Given the description of an element on the screen output the (x, y) to click on. 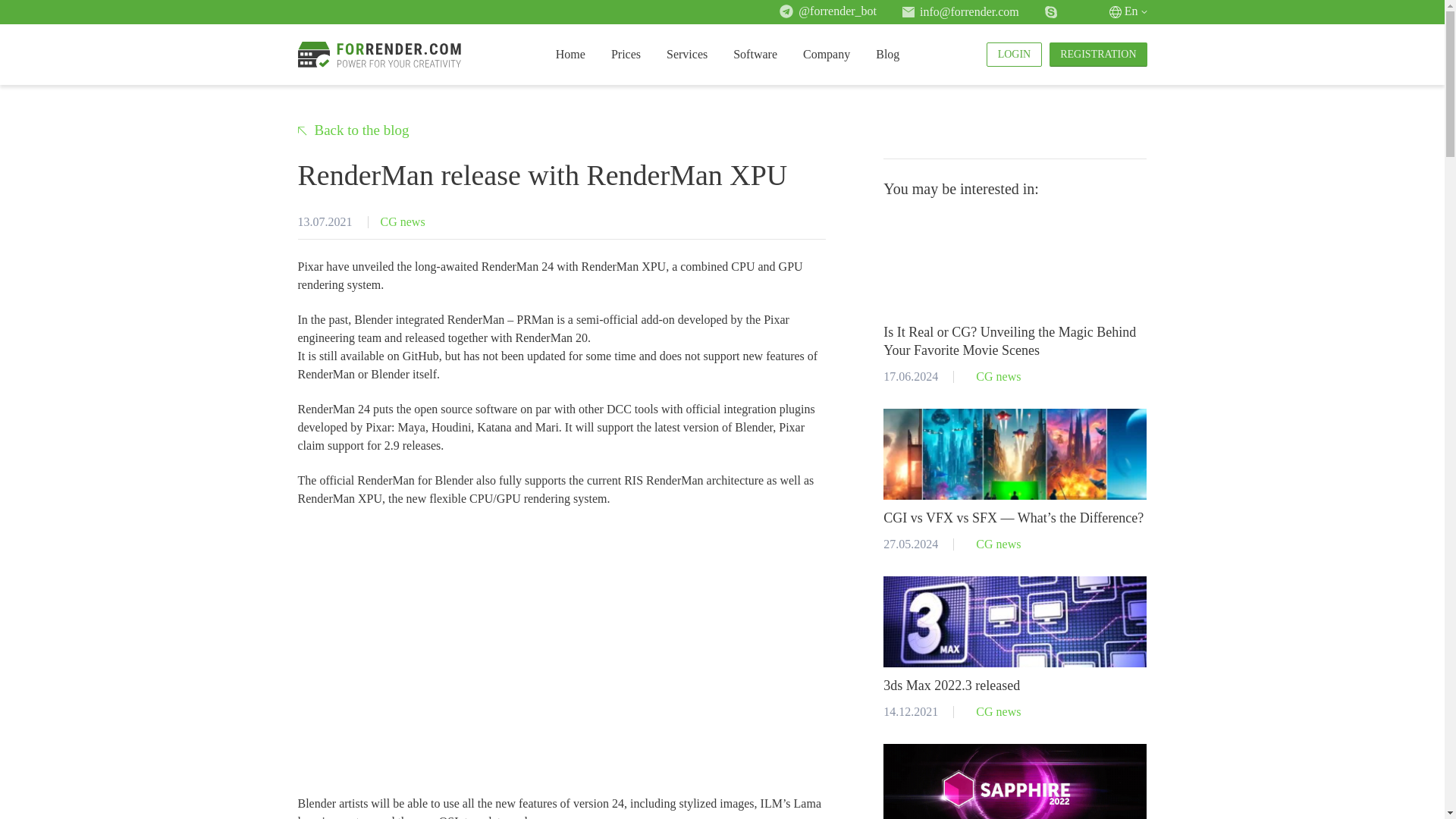
Home (570, 54)
RenderMan 24 Feature Reel (487, 630)
LOGIN (1014, 54)
Prices (625, 54)
Services (686, 54)
Software (755, 54)
Back to the blog (353, 129)
CG news (402, 222)
REGISTRATION (1098, 54)
Blog (887, 54)
Company (826, 54)
